Given the description of an element on the screen output the (x, y) to click on. 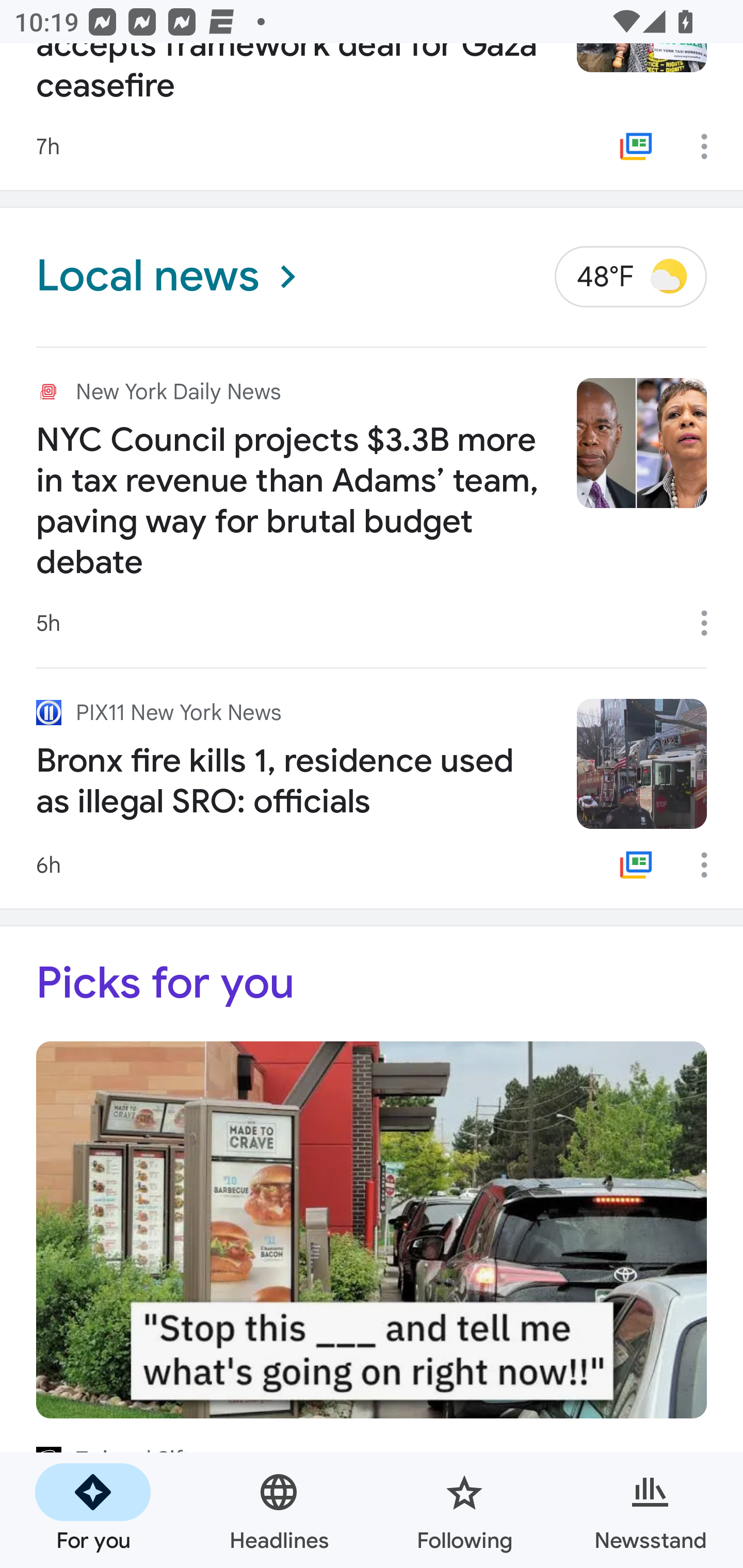
More options (711, 146)
More options (711, 623)
More options (711, 864)
For you (92, 1509)
Headlines (278, 1509)
Following (464, 1509)
Newsstand (650, 1509)
